Given the description of an element on the screen output the (x, y) to click on. 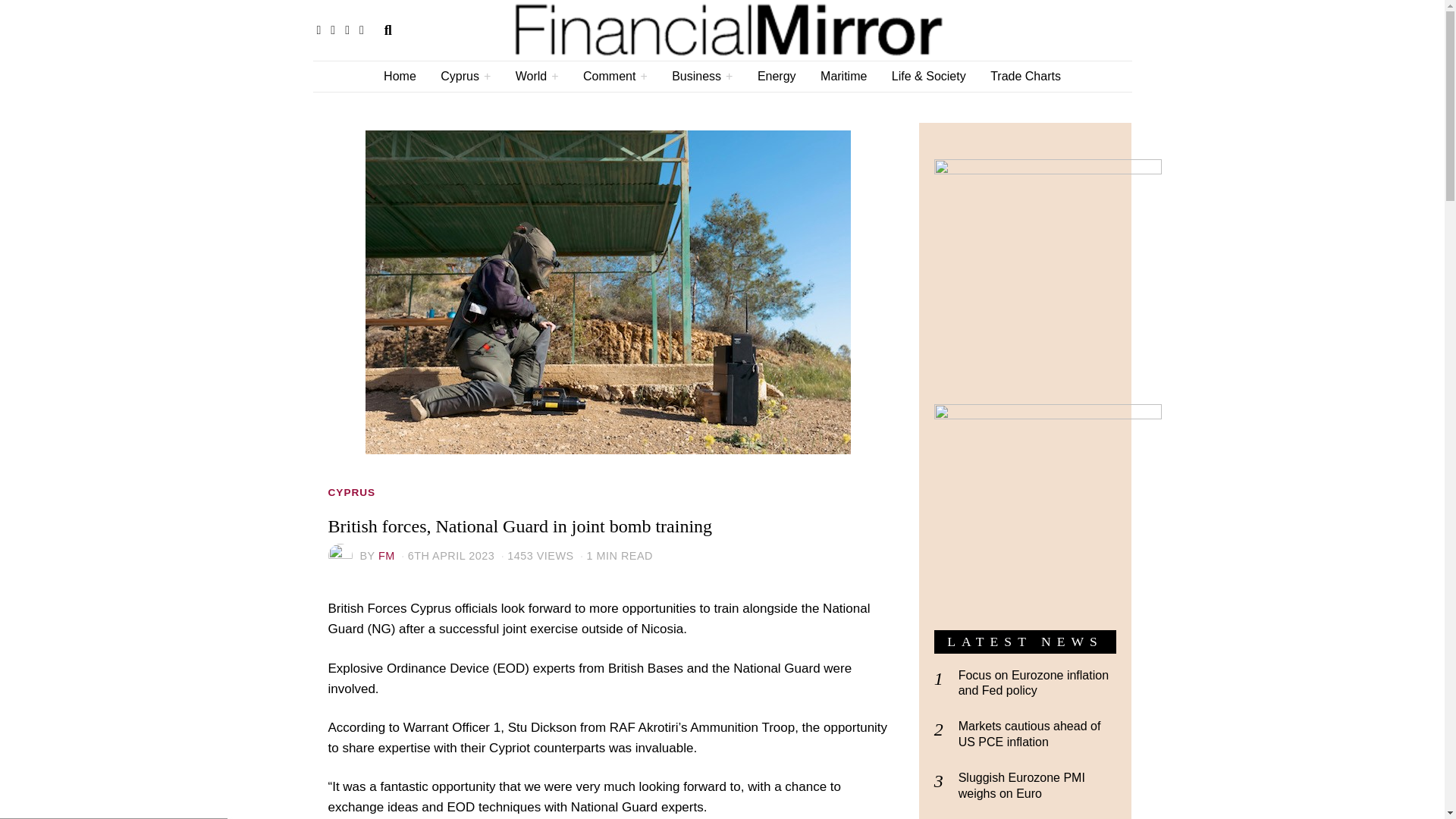
Energy (776, 76)
Cyprus (464, 76)
CYPRUS (351, 492)
Business (701, 76)
World (537, 76)
Comment (615, 76)
Home (399, 76)
FM (386, 555)
Trade Charts (1025, 76)
1453 views (535, 555)
Maritime (843, 76)
